Given the description of an element on the screen output the (x, y) to click on. 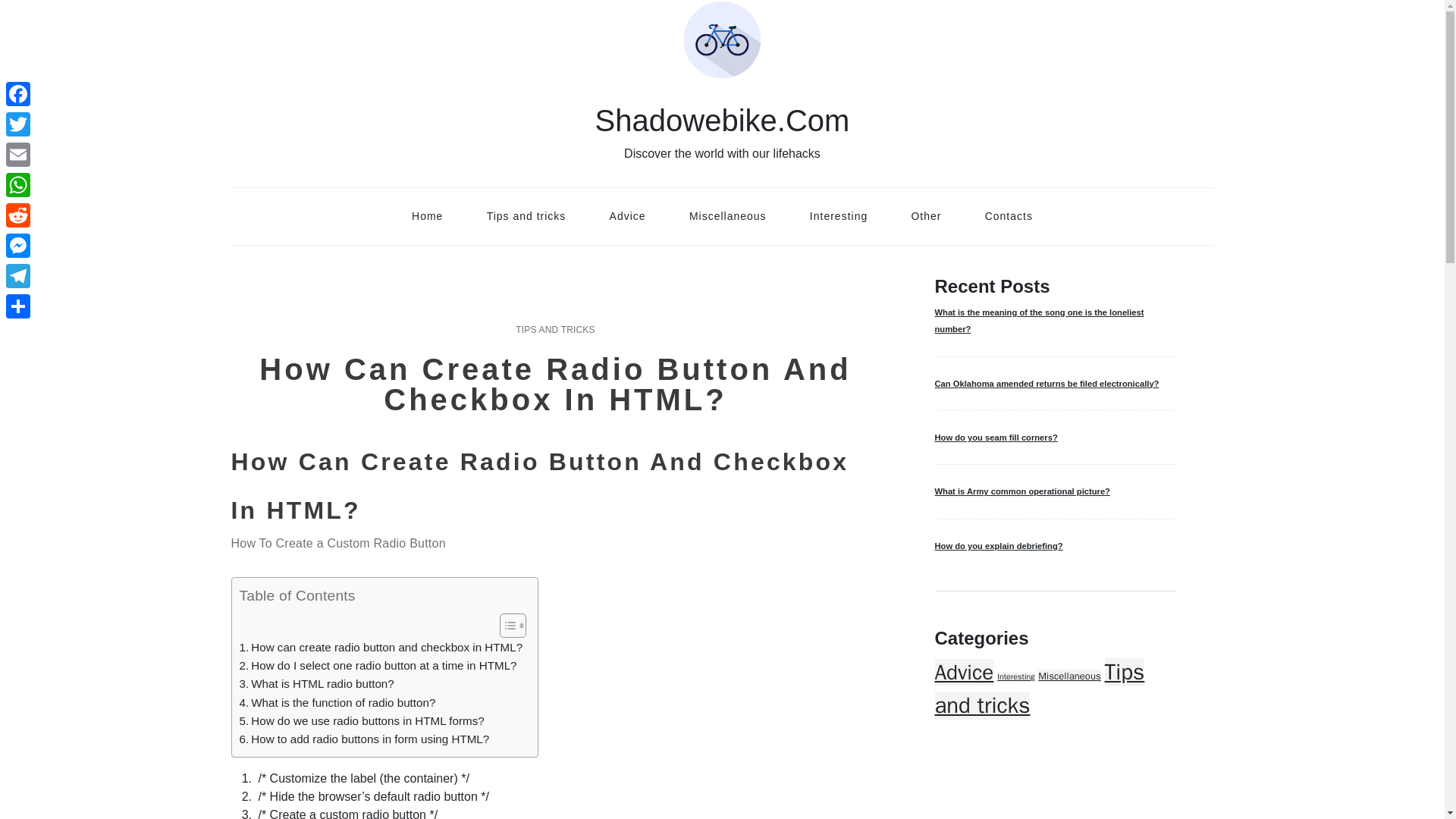
Reddit (17, 214)
What is HTML radio button? (317, 683)
Interesting (838, 215)
How do I select one radio button at a time in HTML? (378, 665)
Advice (627, 215)
Email (17, 154)
How do I select one radio button at a time in HTML? (378, 665)
Interesting (1015, 676)
Tips and tricks (525, 215)
Twitter (17, 123)
